Given the description of an element on the screen output the (x, y) to click on. 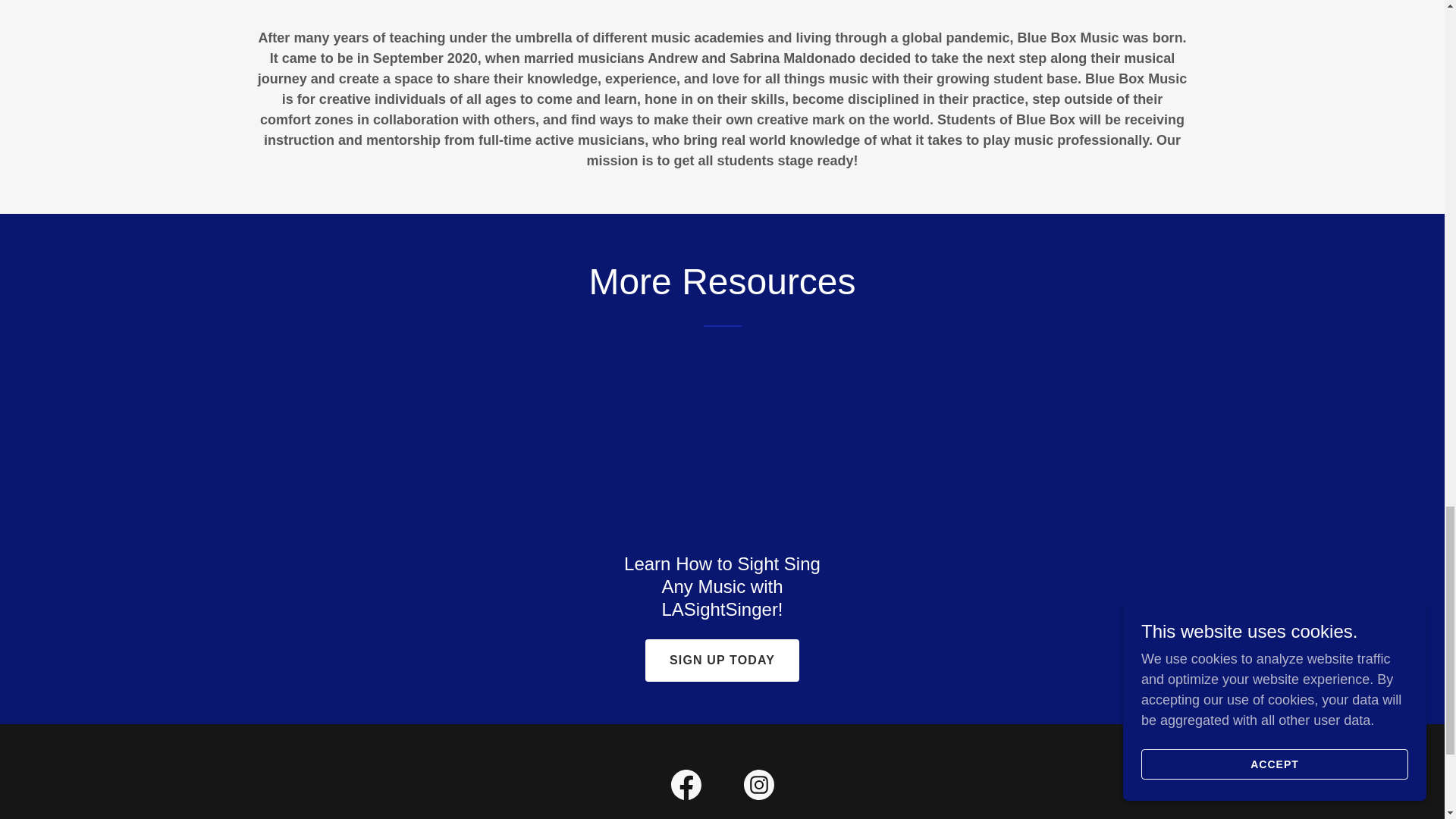
SIGN UP TODAY (722, 660)
